Given the description of an element on the screen output the (x, y) to click on. 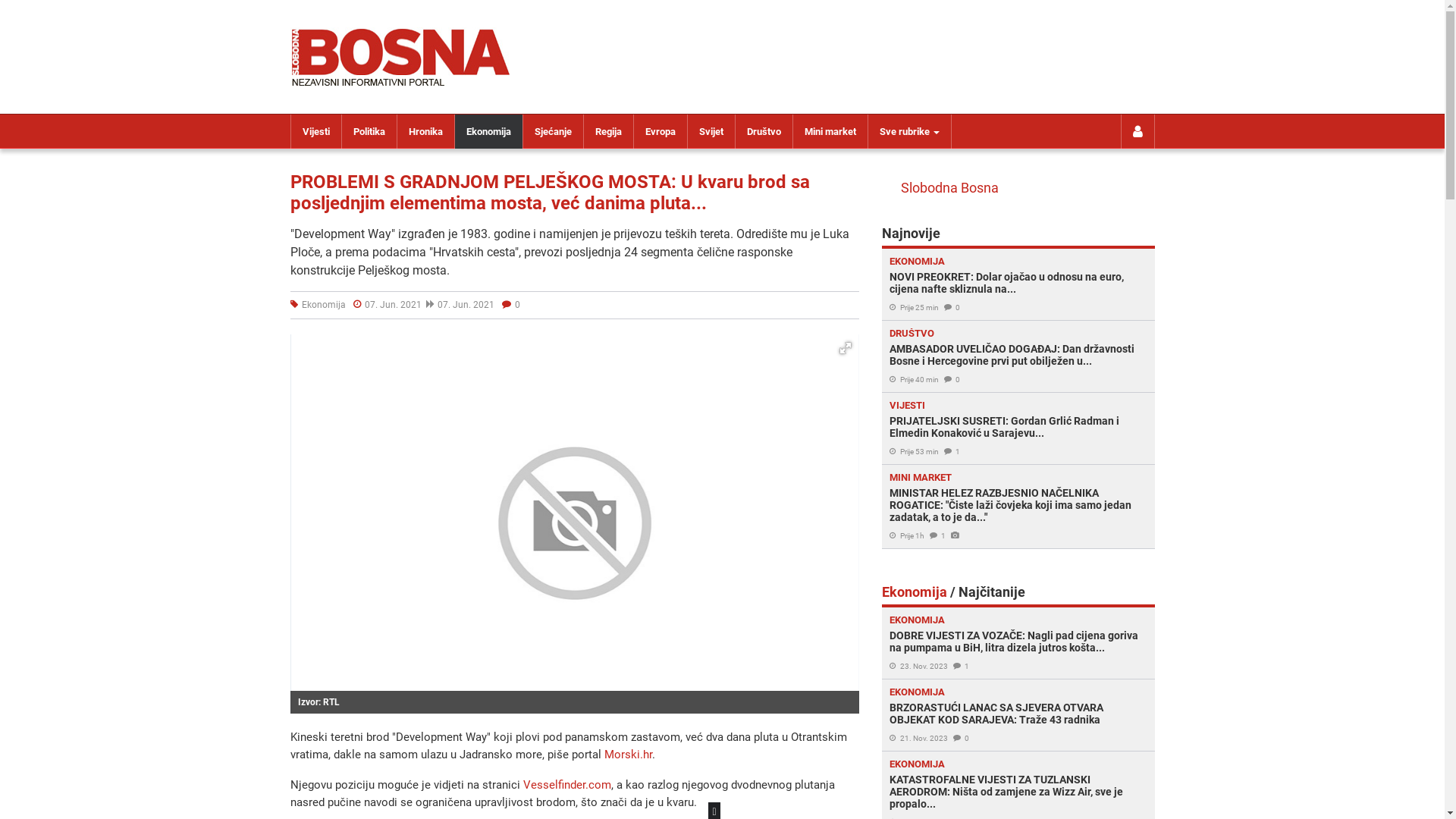
Morski.hr Element type: text (627, 754)
Ekonomija Element type: text (488, 131)
Regija Element type: text (608, 131)
Sve rubrike Element type: text (908, 131)
Svijet Element type: text (710, 131)
Politika Element type: text (368, 131)
Evropa Element type: text (660, 131)
Vijesti Element type: text (316, 131)
Vesselfinder.com Element type: text (567, 784)
Mini market Element type: text (830, 131)
Hronika Element type: text (425, 131)
Slobodna Bosna Element type: text (949, 187)
